Given the description of an element on the screen output the (x, y) to click on. 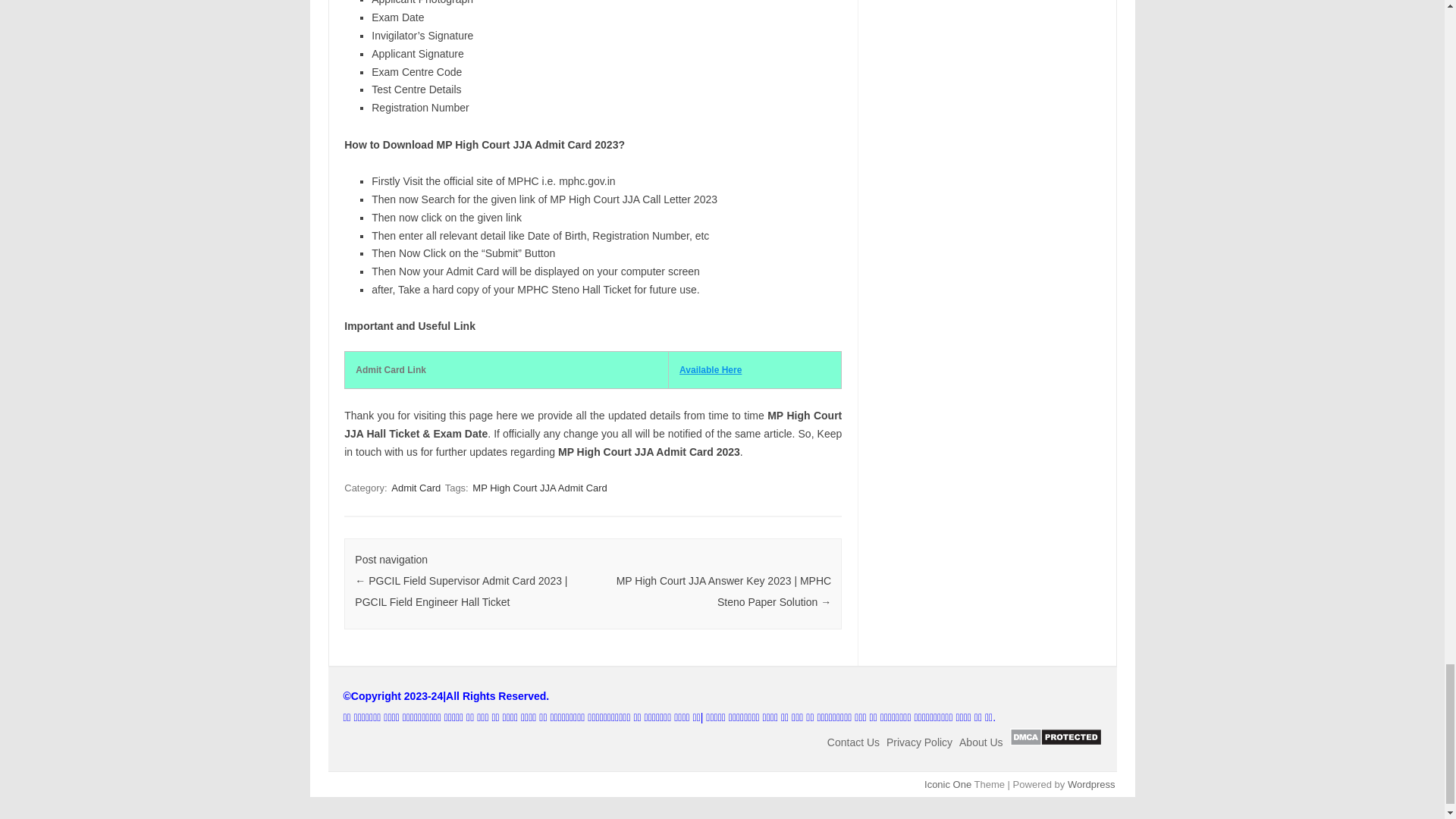
Available Here (710, 369)
MP High Court JJA Admit Card (539, 487)
Admit Card (416, 487)
DMCA.com Protection Status (1056, 742)
